Given the description of an element on the screen output the (x, y) to click on. 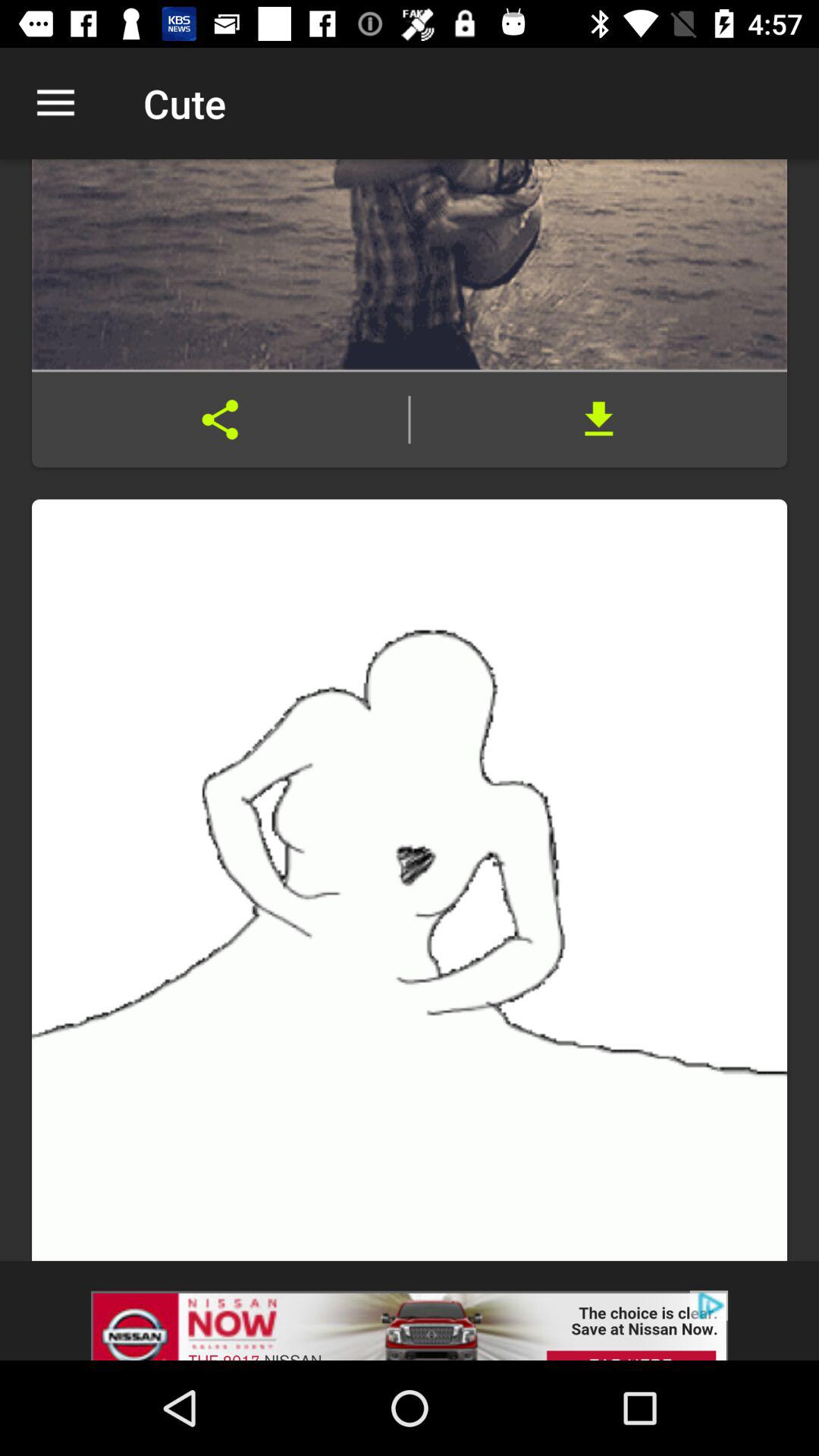
go to share (219, 419)
